Given the description of an element on the screen output the (x, y) to click on. 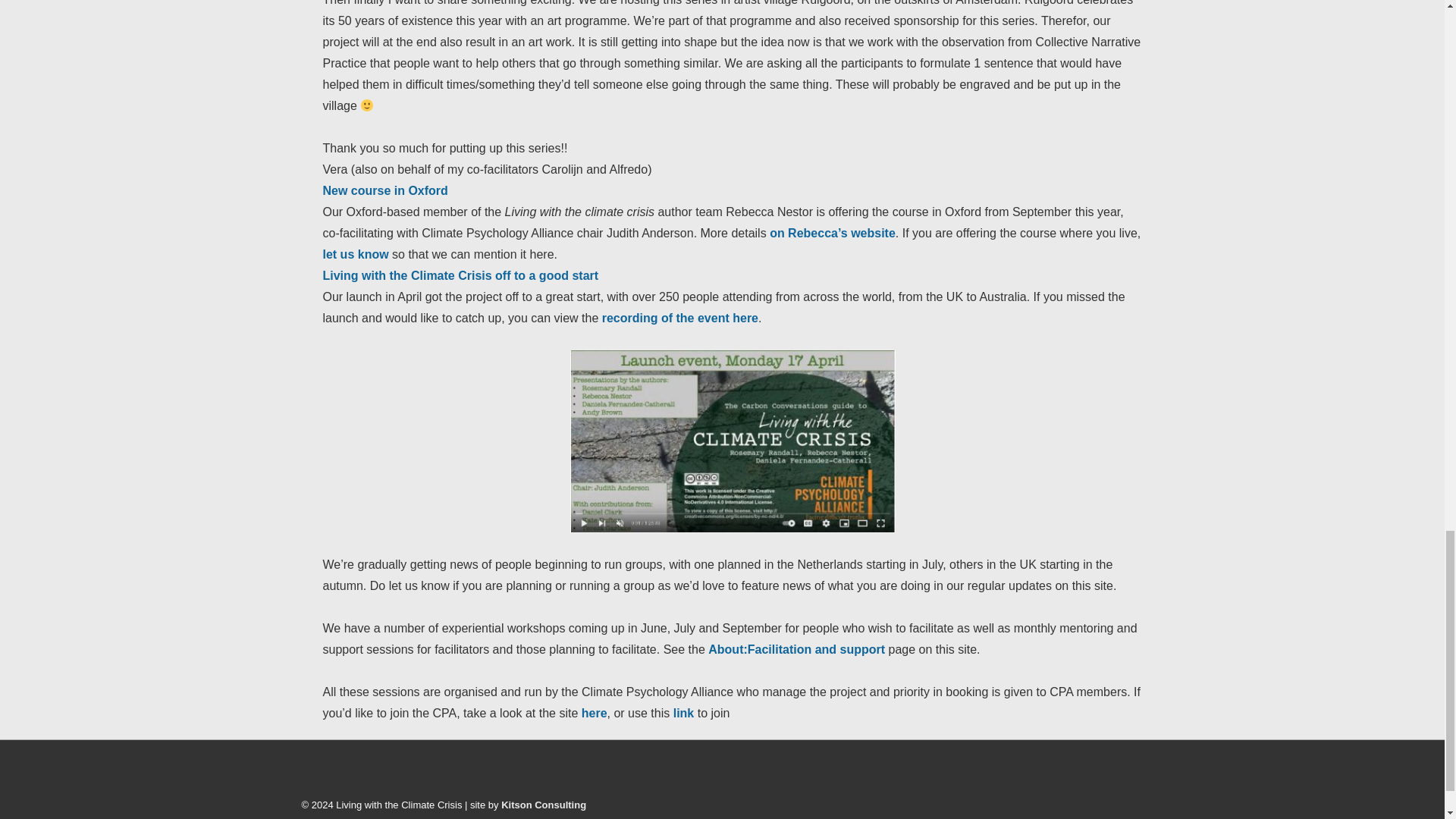
recording of the event here (680, 318)
New course in Oxford (385, 190)
let us know (355, 254)
Kitson Consulting (543, 804)
Living with the Climate Crisis off to a good start (460, 275)
link (681, 712)
About:Facilitation and support (796, 649)
here (593, 712)
